Given the description of an element on the screen output the (x, y) to click on. 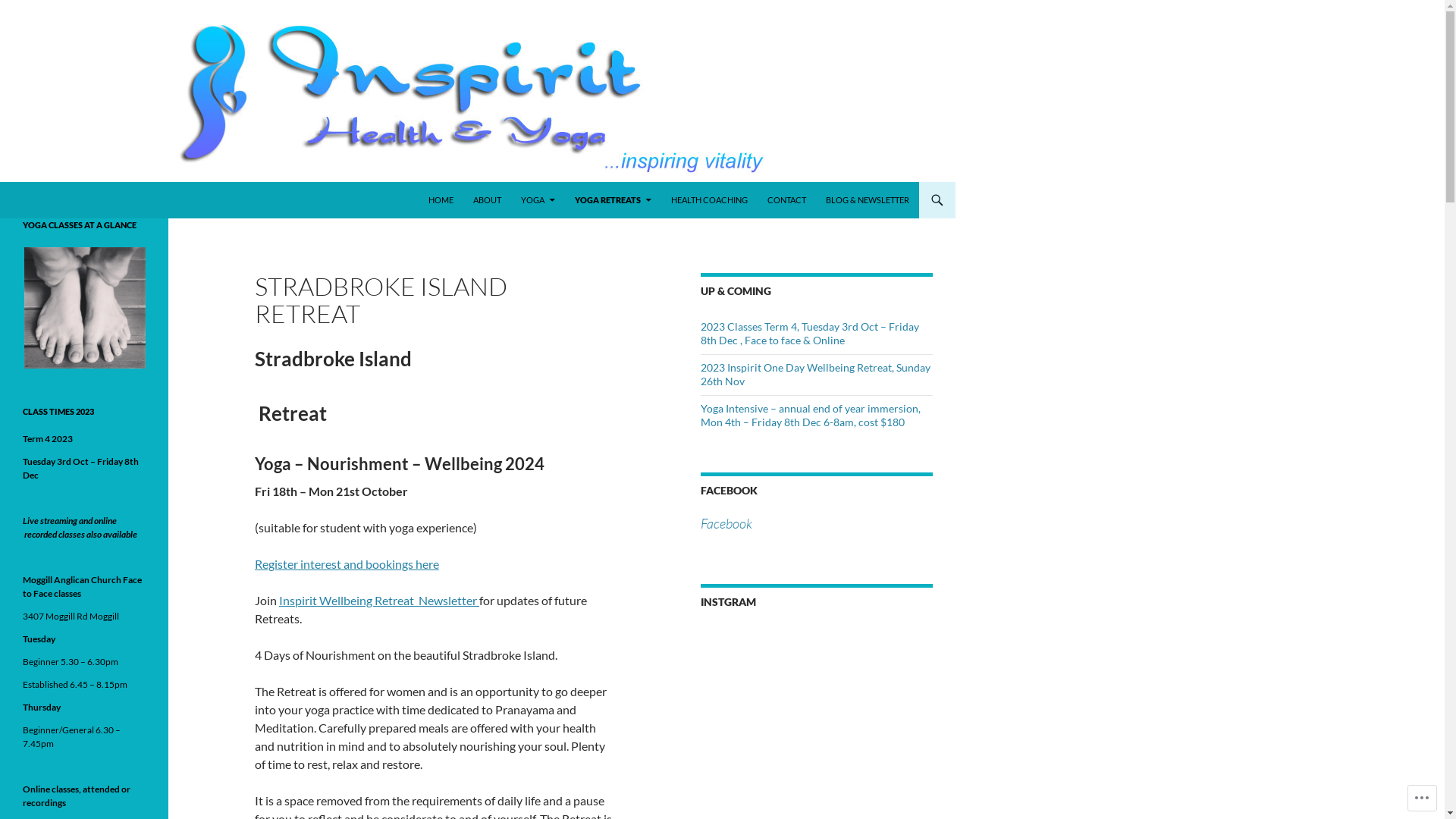
Live streaming and online  recorded classes also available Element type: text (79, 526)
YOGA RETREATS Element type: text (612, 200)
Search Element type: text (3, 181)
BLOG & NEWSLETTER Element type: text (867, 200)
Inspirit Wellbeing Retreat  Newsletter Element type: text (379, 600)
YOGA Element type: text (537, 200)
ABOUT Element type: text (487, 200)
FACEBOOK Element type: text (728, 489)
CONTACT Element type: text (786, 200)
2023 Inspirit One Day Wellbeing Retreat, Sunday 26th Nov Element type: text (815, 373)
Facebook Element type: text (726, 522)
Register interest and bookings here Element type: text (346, 563)
haydie yoga feet Element type: hover (84, 307)
HOME Element type: text (440, 200)
Inspirit Health & Yoga Element type: text (88, 200)
HEALTH COACHING Element type: text (709, 200)
